Given the description of an element on the screen output the (x, y) to click on. 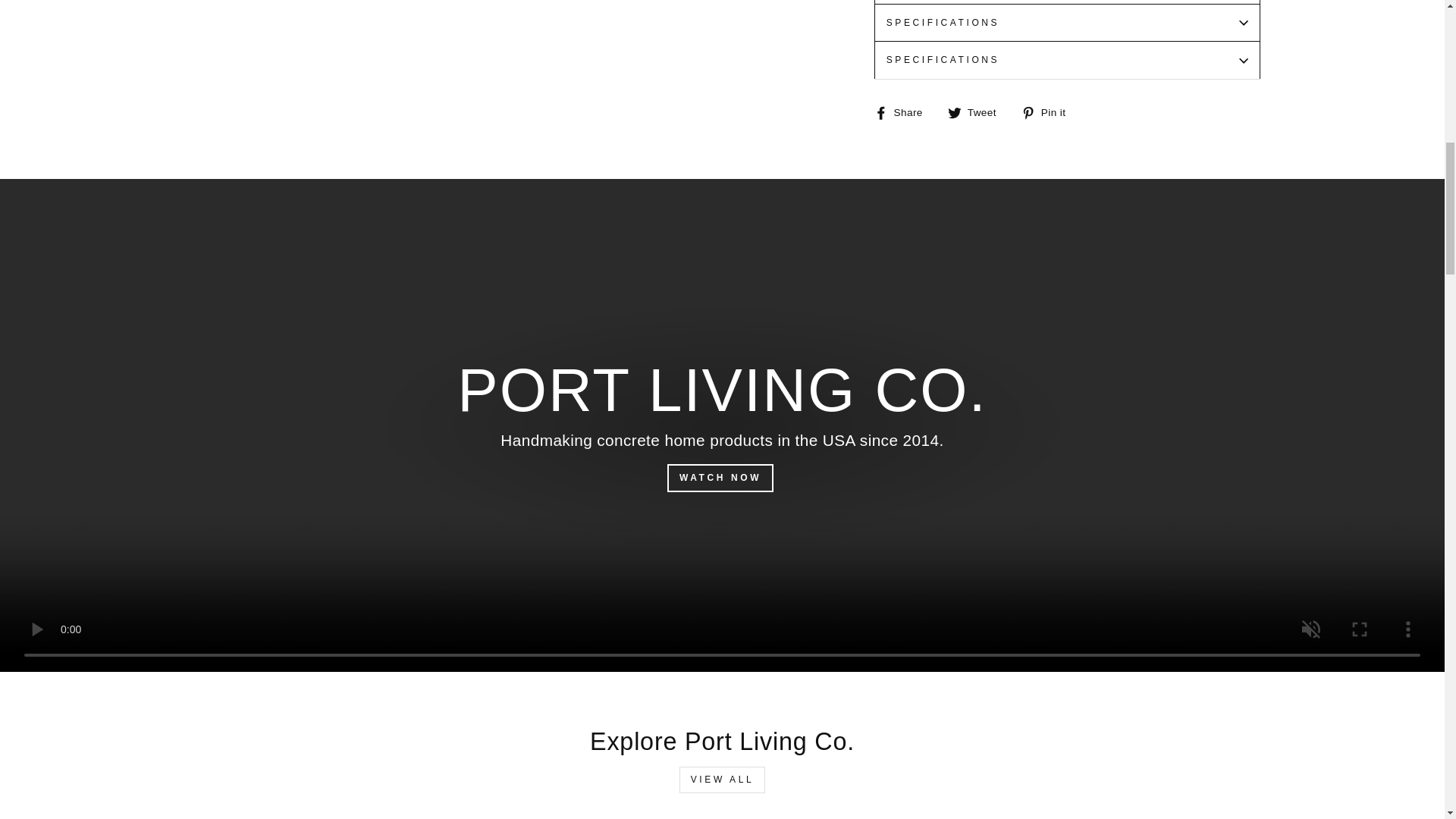
Tweet on Twitter (977, 112)
Share on Facebook (904, 112)
Pin on Pinterest (1049, 112)
